Given the description of an element on the screen output the (x, y) to click on. 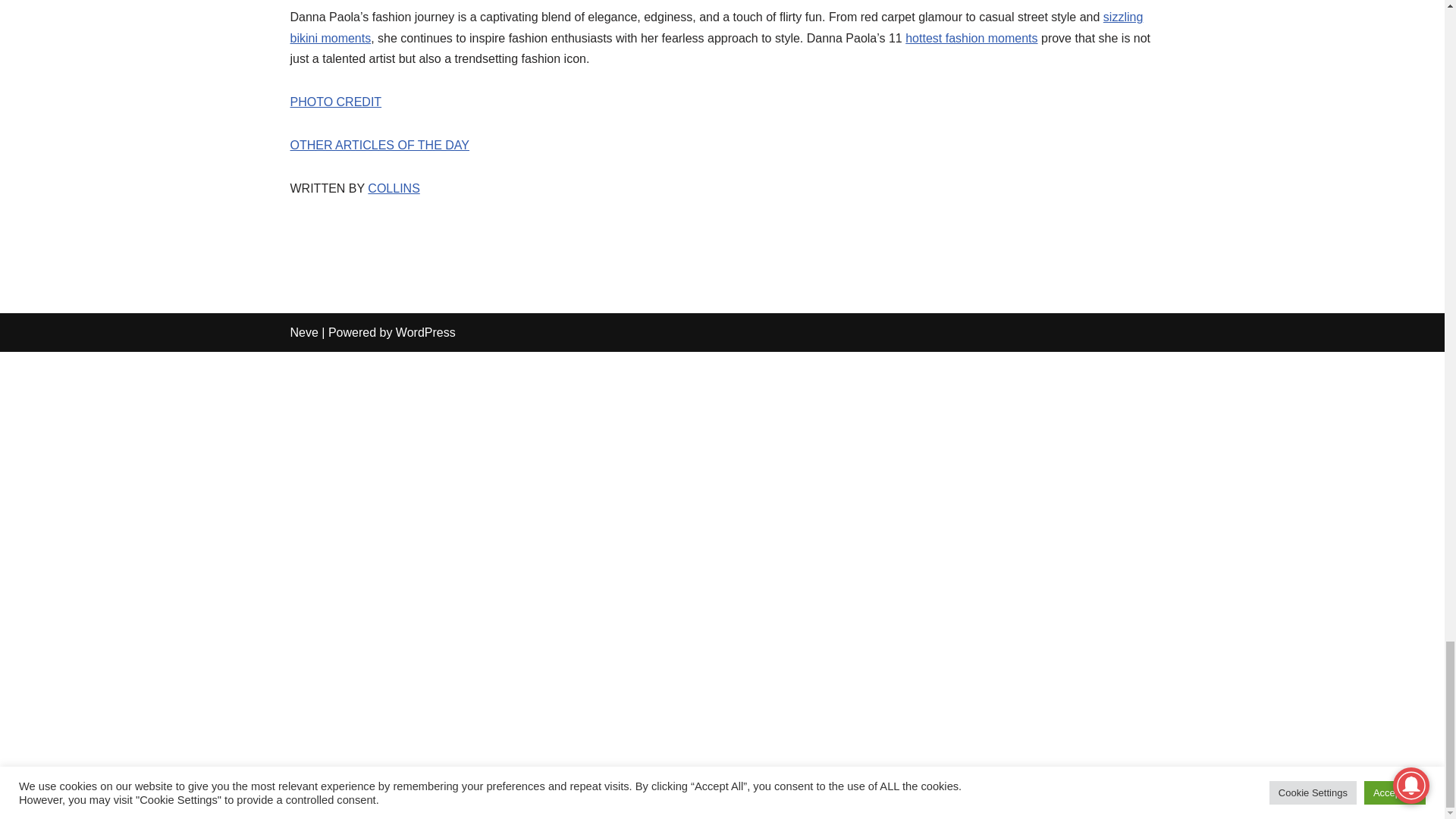
PHOTO CREDIT (335, 101)
hottest fashion moments (970, 38)
COLLINS (393, 187)
sizzling bikini moments (715, 27)
OTHER ARTICLES OF THE DAY (378, 144)
WordPress (425, 332)
Neve (303, 332)
